Given the description of an element on the screen output the (x, y) to click on. 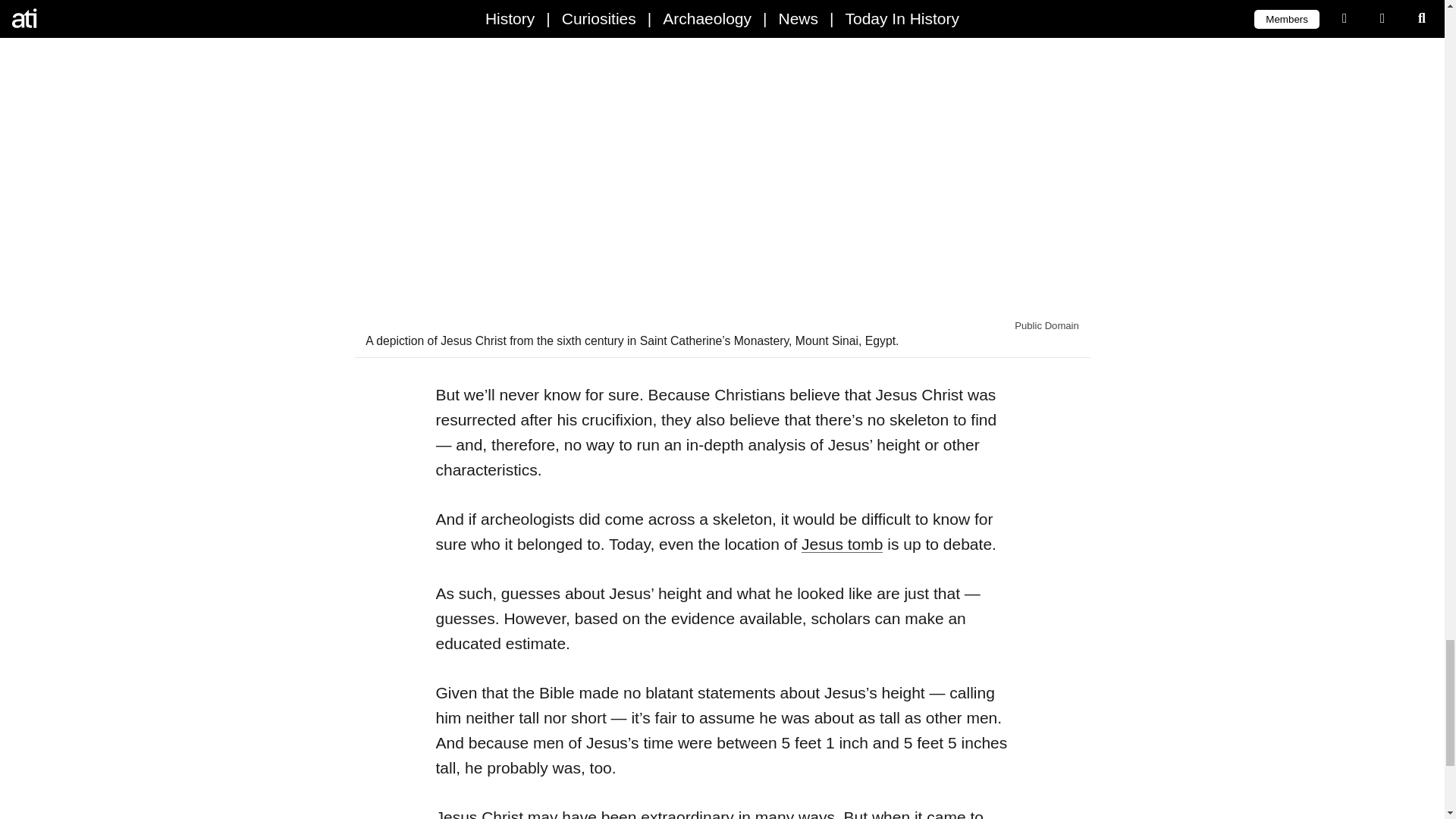
Jesus tomb (842, 543)
